Given the description of an element on the screen output the (x, y) to click on. 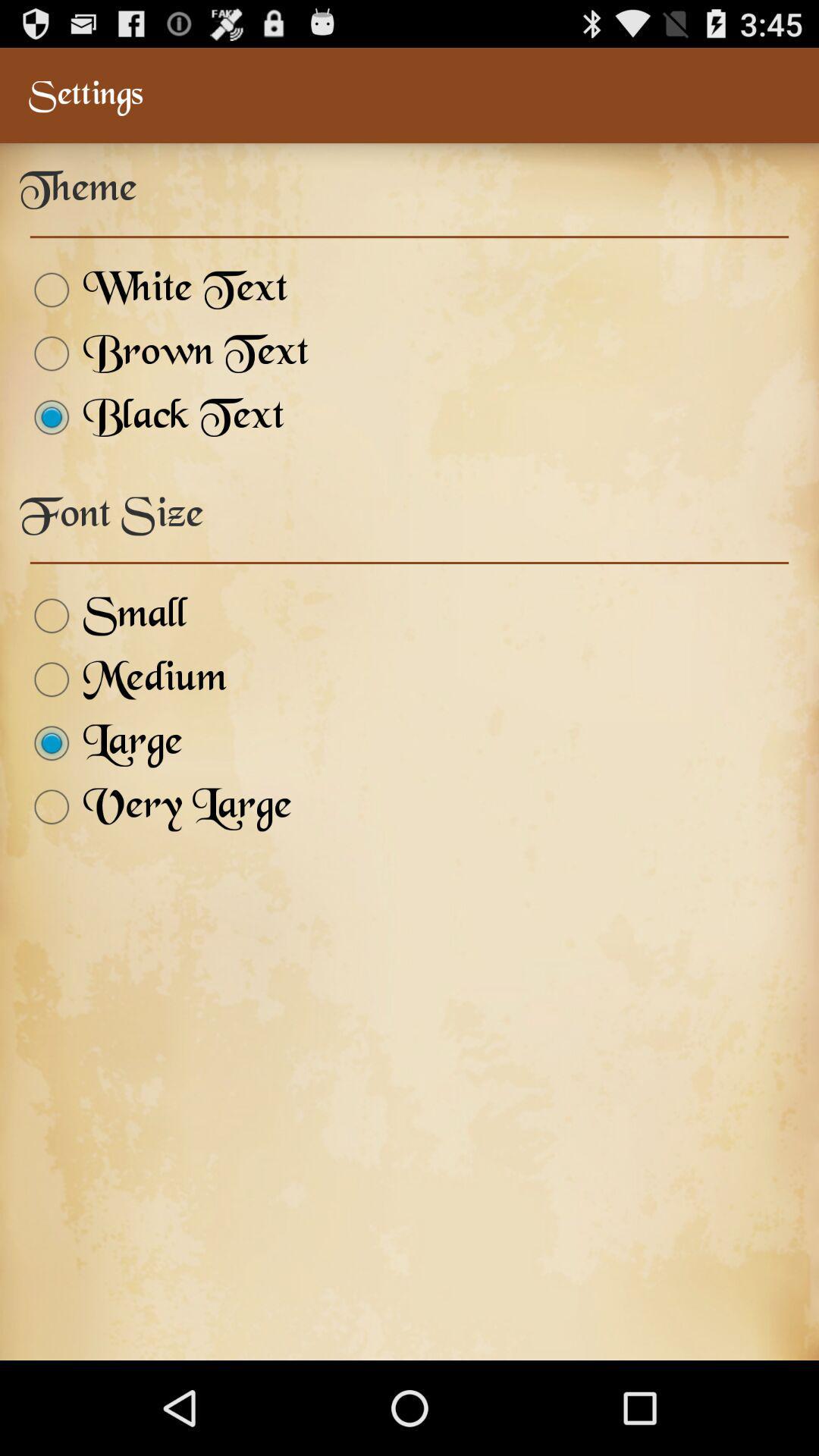
choose item below white text (163, 353)
